Given the description of an element on the screen output the (x, y) to click on. 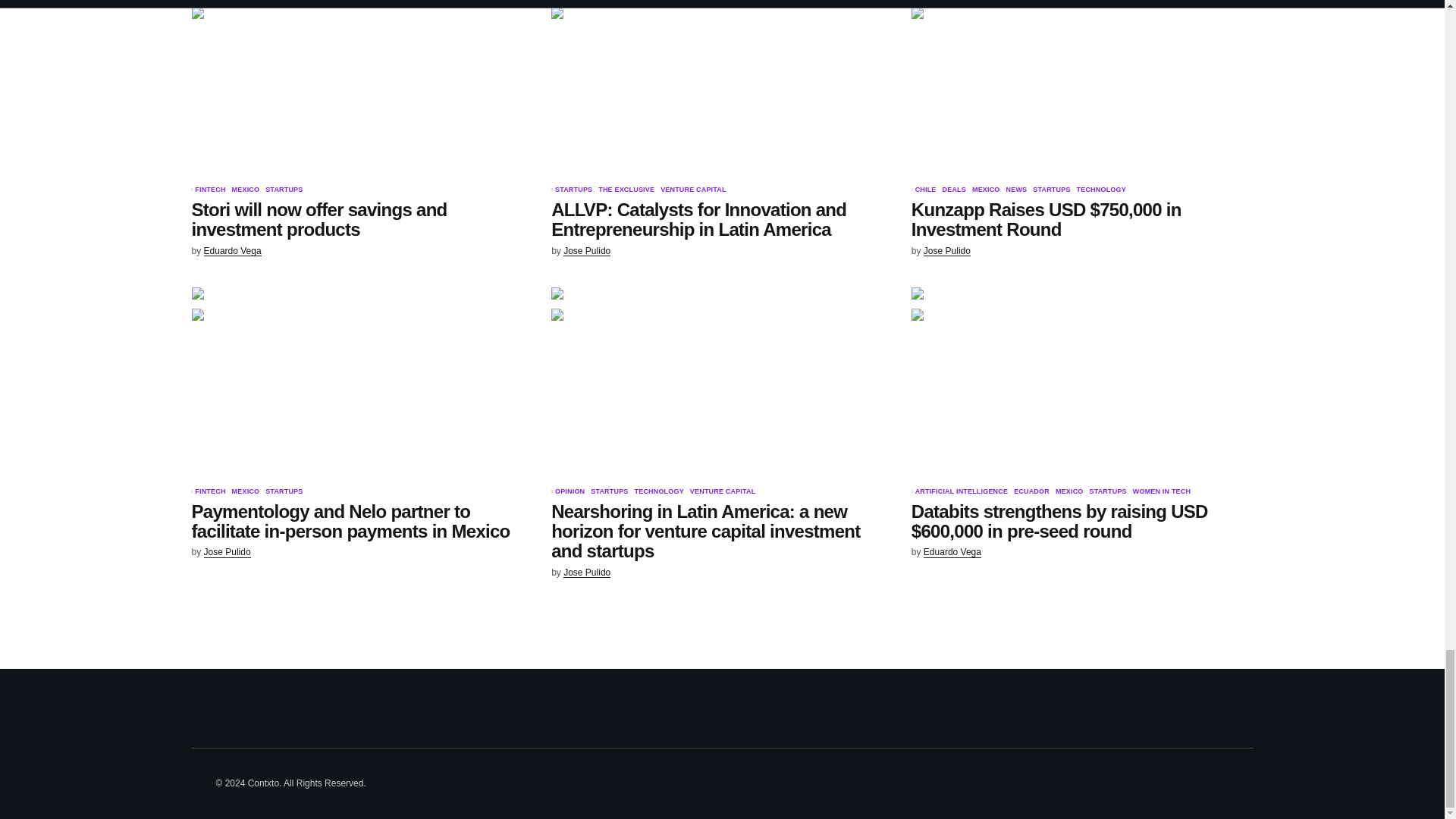
Stori will now offer savings and investment products (361, 88)
